Given the description of an element on the screen output the (x, y) to click on. 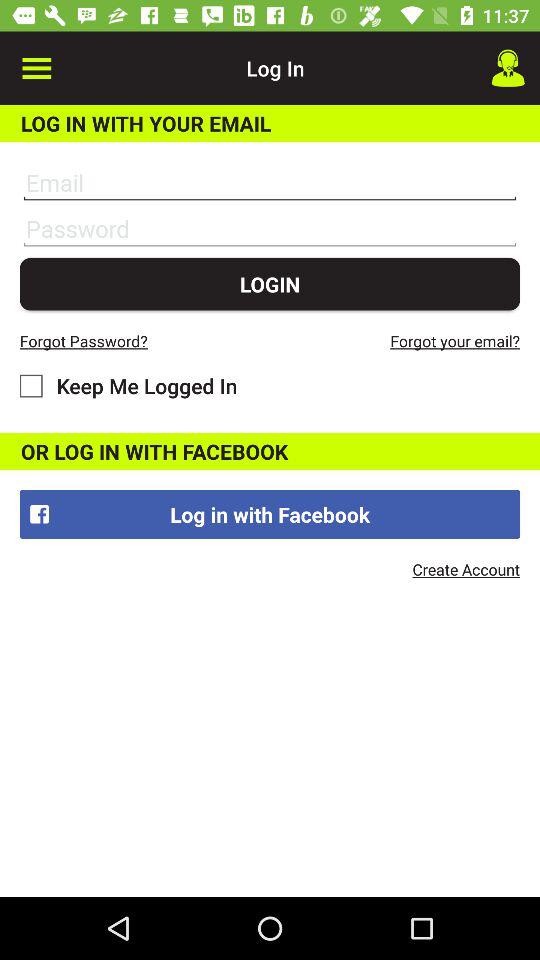
turn off item above log in with item (36, 68)
